Given the description of an element on the screen output the (x, y) to click on. 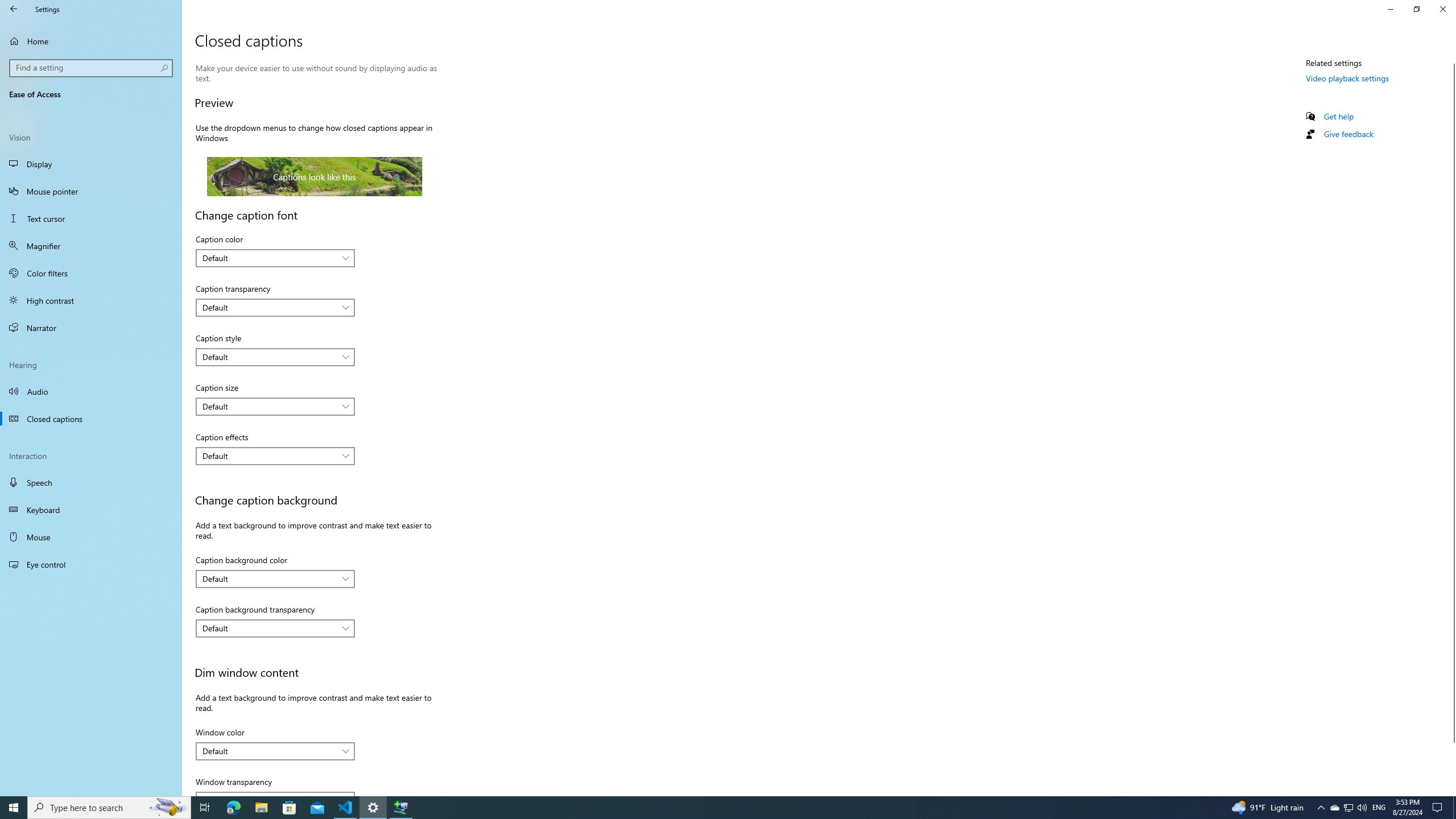
Search box, Find a setting (91, 67)
Default (269, 750)
Extensible Wizards Host Process - 1 running window (400, 807)
Caption size (275, 406)
Caption color (275, 257)
Caption background color (275, 579)
Vertical (1451, 425)
Display (91, 163)
Get help (1338, 116)
